Given the description of an element on the screen output the (x, y) to click on. 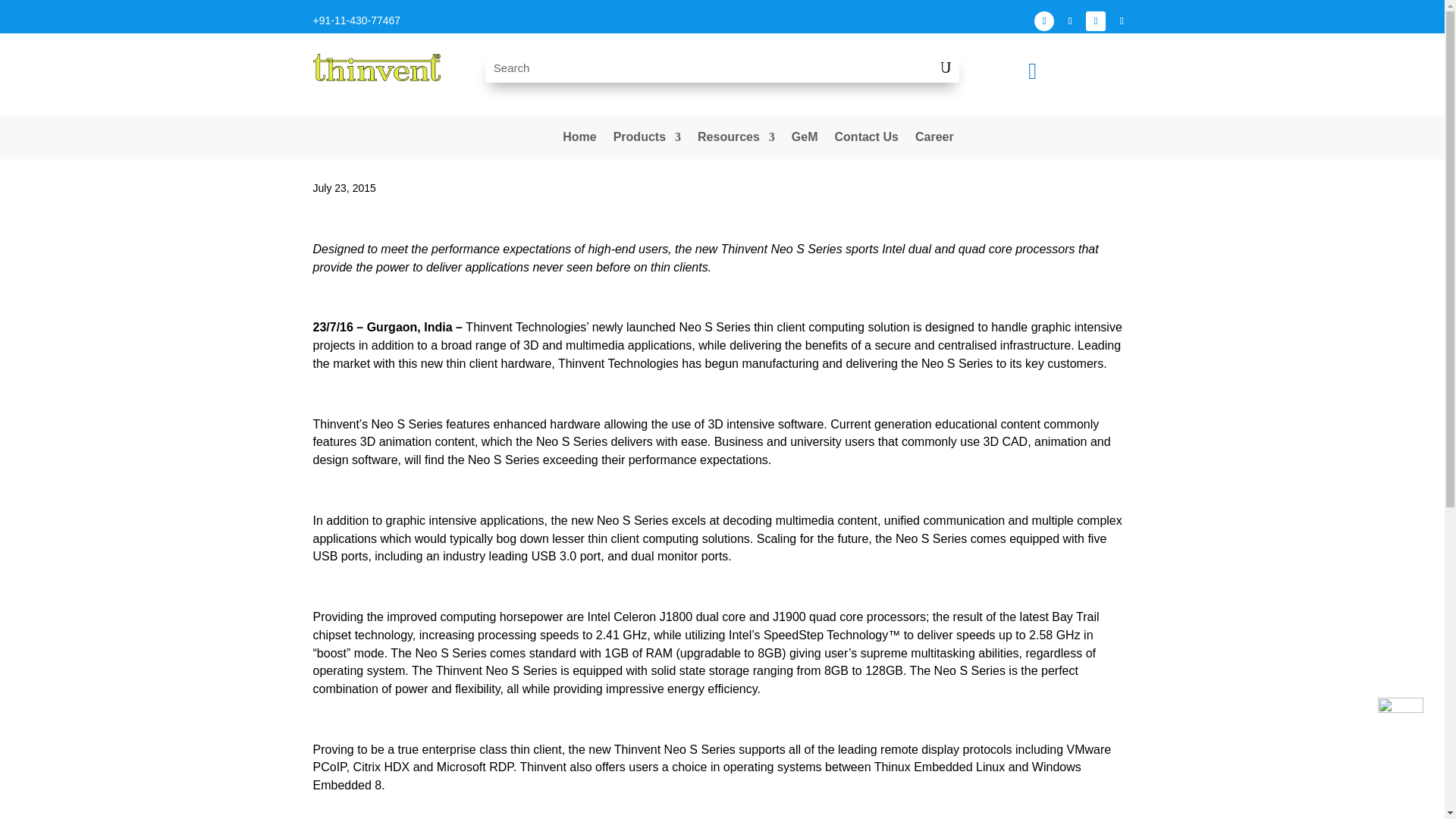
Follow on Facebook (1043, 21)
Follow on X (1121, 21)
Follow on Instagram (1069, 21)
Follow on LinkedIn (1095, 21)
call-logo1 (1400, 719)
